Given the description of an element on the screen output the (x, y) to click on. 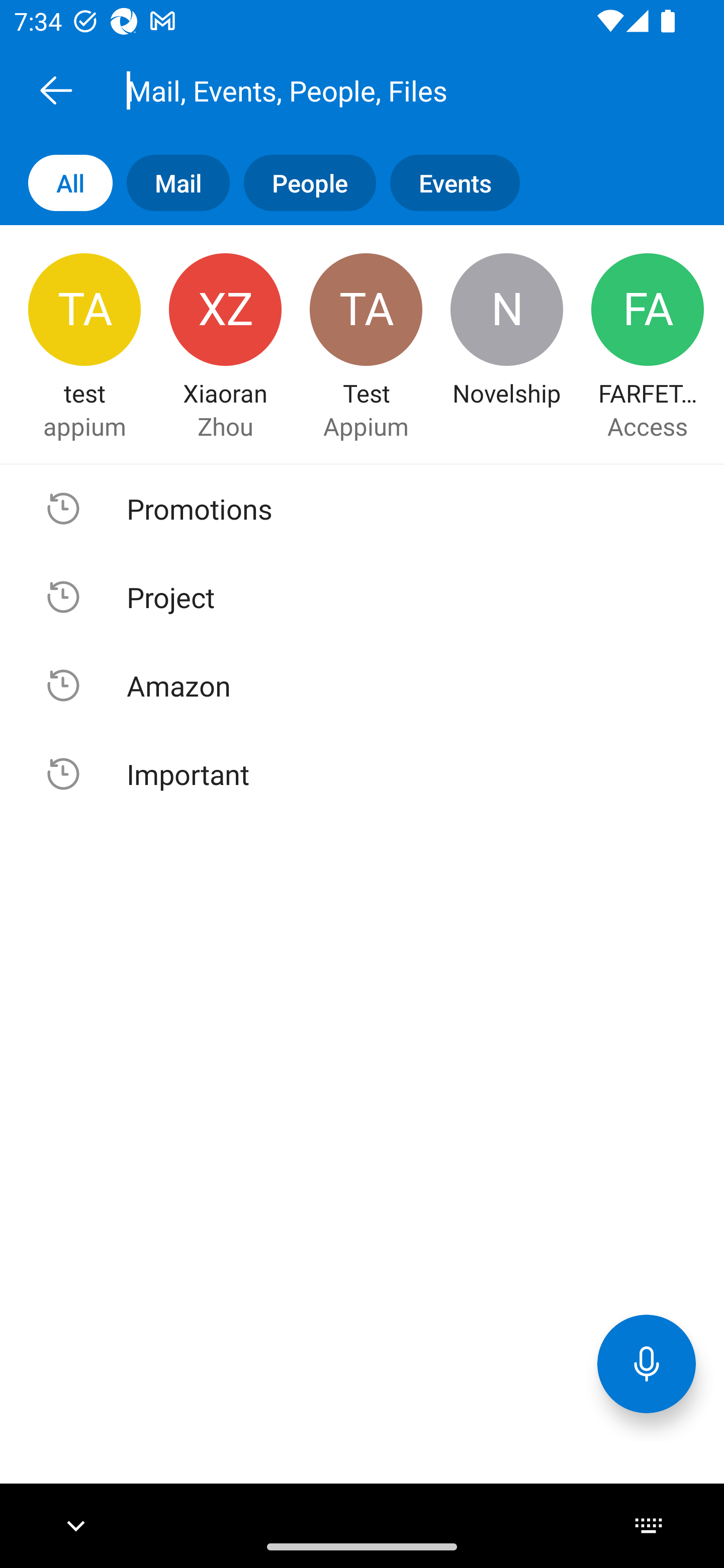
Back (55, 89)
Mail, Events, People, Files (384, 89)
Mail (170, 183)
People (302, 183)
Events (447, 183)
Suggested search , Text, Promotions Promotions (362, 508)
Suggested search , Text, Project Project (362, 597)
Suggested search , Text, Amazon Amazon (362, 685)
Suggested search , Text, Important Important (362, 773)
Voice Assistant (646, 1362)
